Given the description of an element on the screen output the (x, y) to click on. 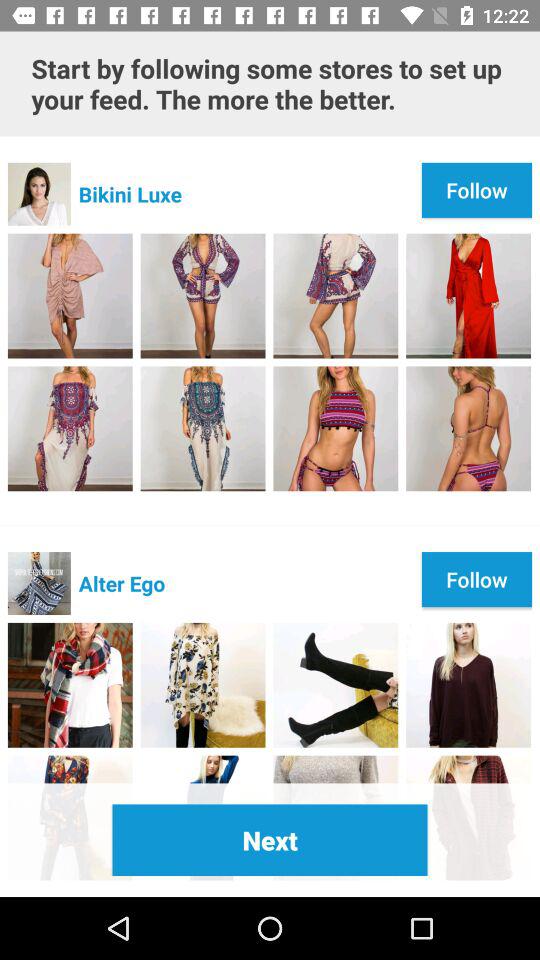
click the next item (269, 840)
